Given the description of an element on the screen output the (x, y) to click on. 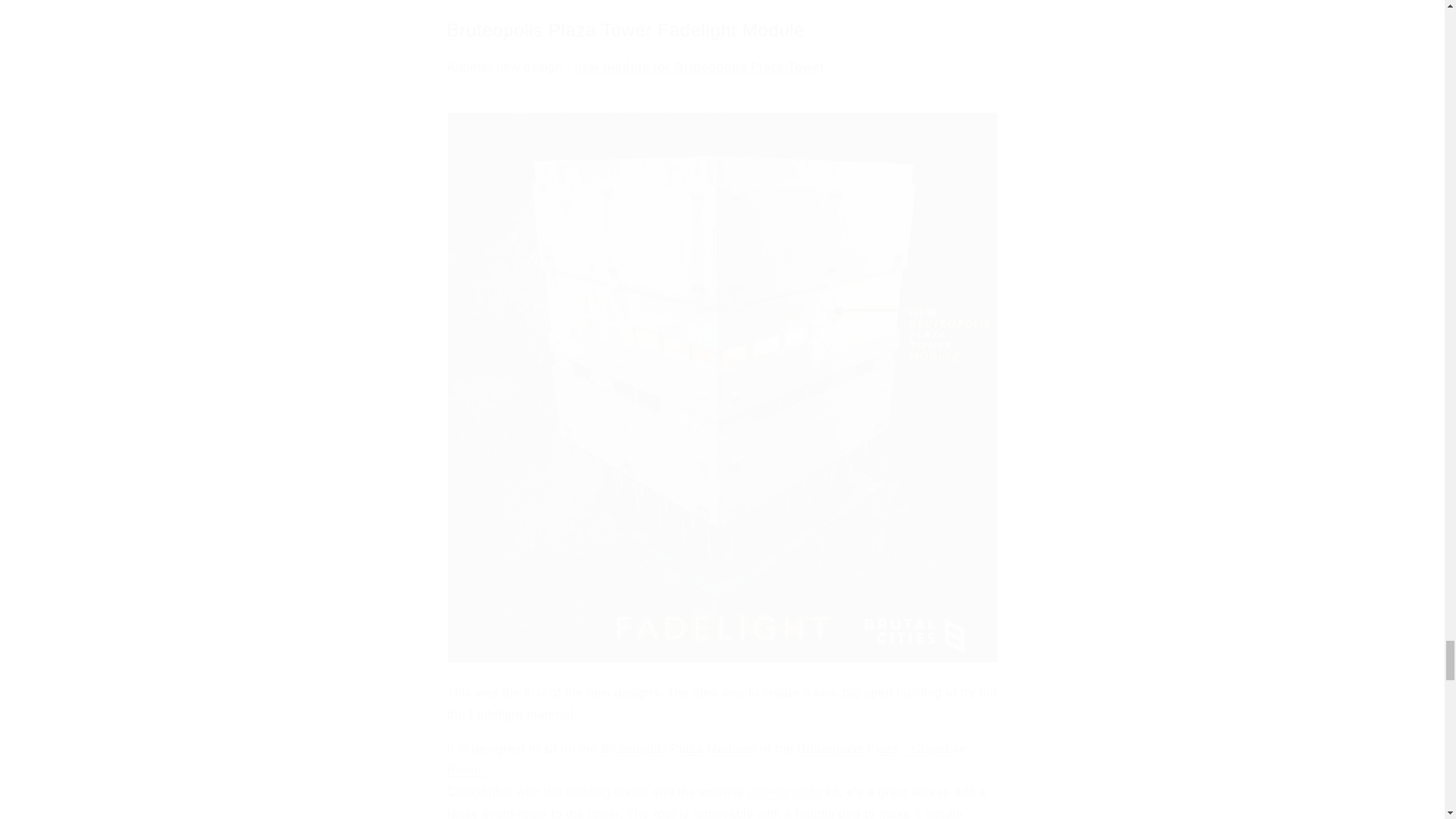
Bruteopolis Plaza - Tower Module (678, 748)
Bruteopolis Plaza - Objective Room (706, 759)
Bruteopolis Plaza Tower - Fadelight Module (697, 66)
